Given the description of an element on the screen output the (x, y) to click on. 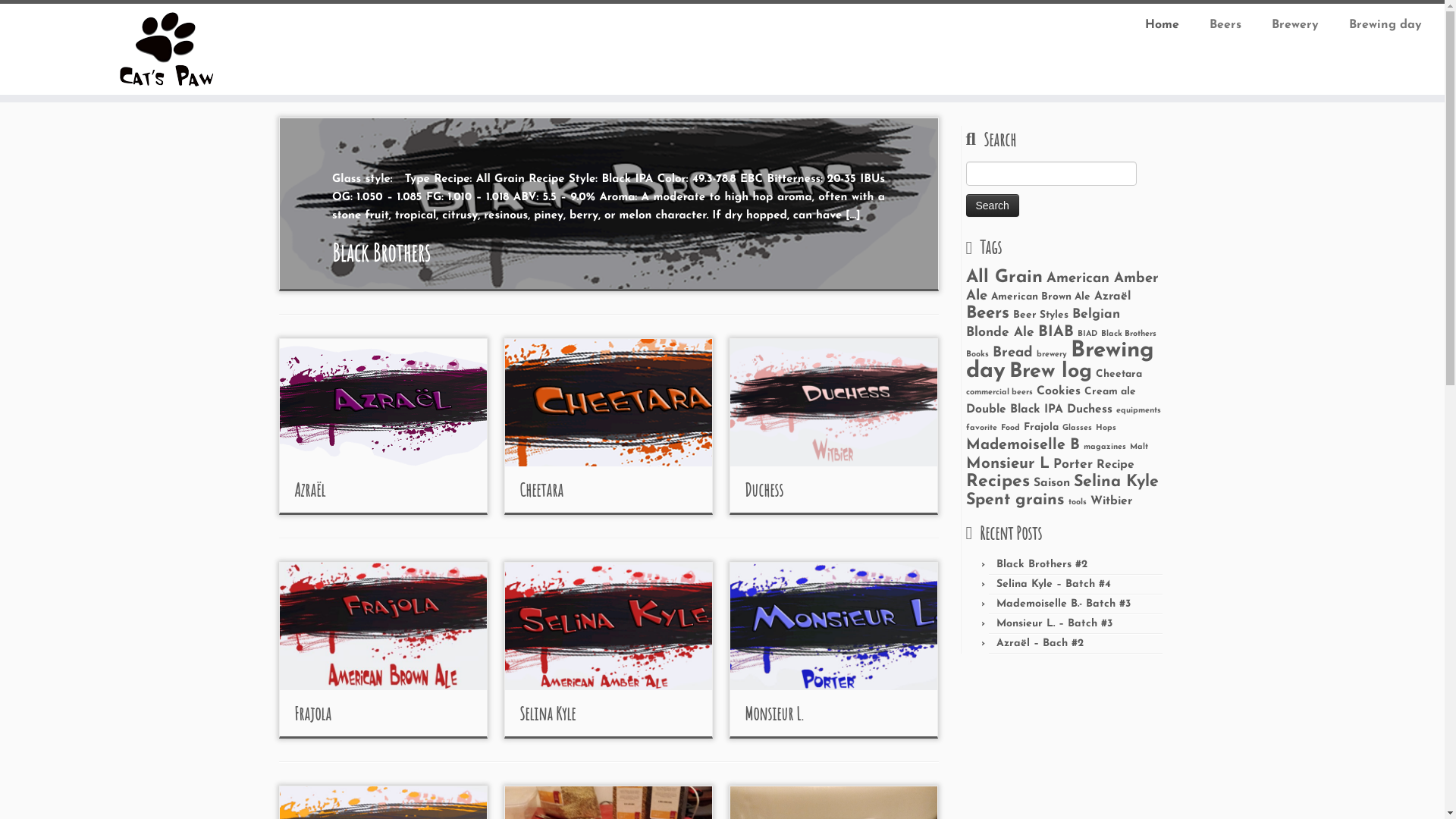
Duchess Element type: text (1088, 409)
commercial beers Element type: text (999, 392)
Brewing day Element type: text (1377, 24)
Food Element type: text (1010, 427)
Cream ale Element type: text (1109, 391)
Black Brothers Element type: text (380, 251)
Recipe Element type: text (1115, 464)
Brewery Element type: text (1294, 24)
Search Element type: text (992, 205)
Spent grains Element type: text (1015, 500)
Books Element type: text (977, 354)
Mademoiselle B Element type: text (1022, 444)
Cheetara Element type: text (1118, 374)
Duchess Element type: text (763, 489)
Recipes Element type: text (997, 481)
Cookies Element type: text (1057, 391)
Frajola Element type: text (1040, 427)
Bread Element type: text (1011, 352)
BIAB Element type: text (1055, 331)
Glasses Element type: text (1076, 427)
Monsieur L. Element type: text (773, 713)
magazines Element type: text (1103, 446)
Black Brothers Element type: text (1128, 333)
Selina Kyle Element type: text (547, 713)
Brew log Element type: text (1049, 371)
Home Element type: text (1161, 24)
Witbier Element type: text (1111, 501)
Monsieur L Element type: text (1007, 463)
Selina Kyle Element type: text (1115, 481)
Brewing day Element type: text (1060, 360)
Porter Element type: text (1072, 464)
Cheetara Element type: text (541, 489)
Beer Styles Element type: text (1040, 315)
favorite Element type: text (981, 427)
Beers Element type: text (1225, 24)
equipments Element type: text (1138, 410)
Double Black IPA Element type: text (1014, 409)
Saison Element type: text (1050, 482)
Mademoiselle B.- Batch #3 Element type: text (1063, 603)
All Grain Element type: text (1004, 277)
BIAD Element type: text (1086, 333)
Belgian Blonde Ale Element type: text (1043, 322)
tools Element type: text (1076, 502)
Malt Element type: text (1138, 446)
American Amber Ale Element type: text (1062, 287)
Hops Element type: text (1105, 427)
Beers Element type: text (987, 313)
Black Brothers #2 Element type: text (1041, 564)
brewery Element type: text (1050, 354)
Frajola Element type: text (312, 713)
American Brown Ale Element type: text (1039, 296)
